Given the description of an element on the screen output the (x, y) to click on. 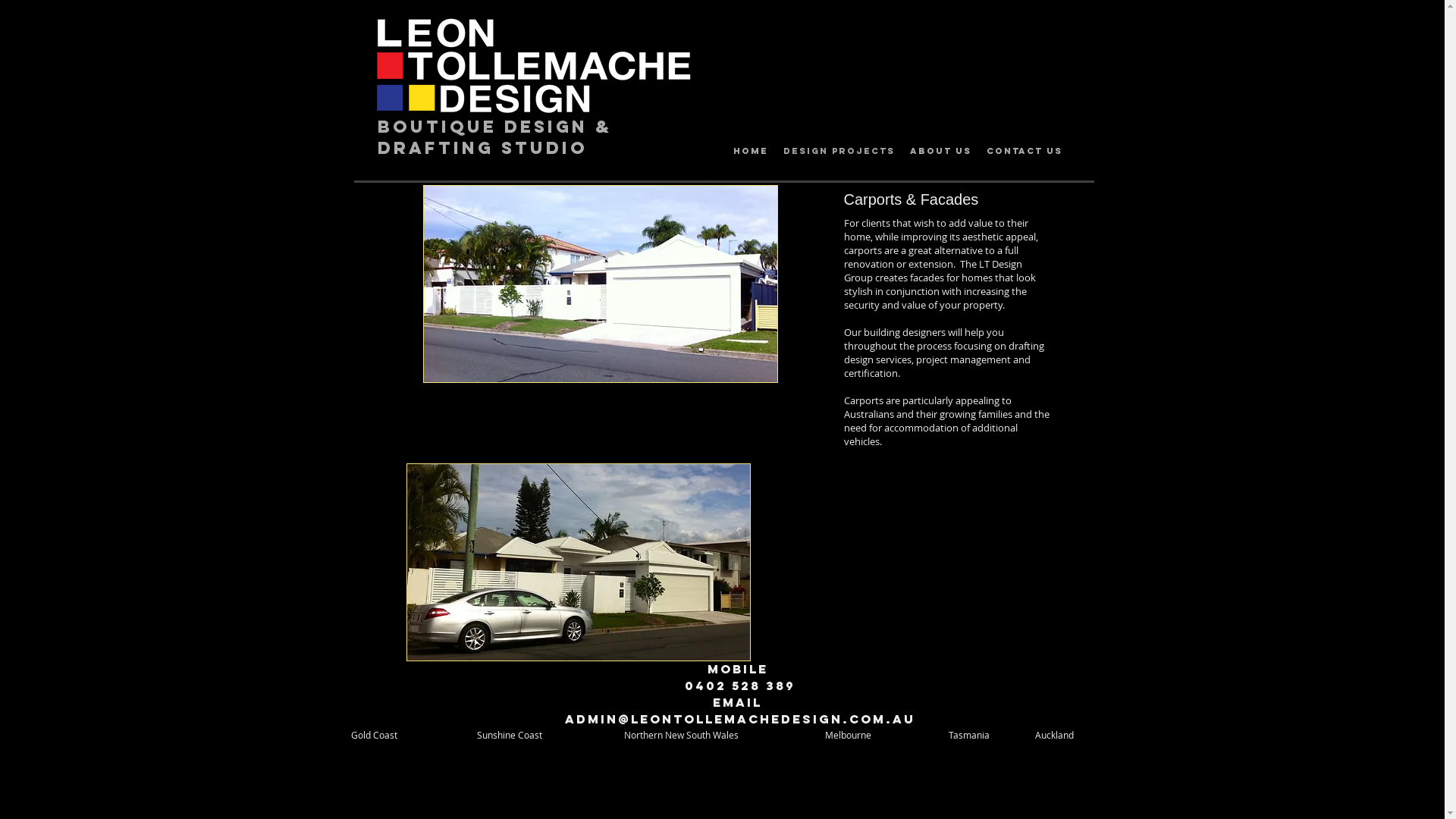
Contact Us Element type: text (1023, 150)
Home Element type: text (749, 150)
admin@leontollemachedesign.com.au Element type: text (739, 718)
About Us Element type: text (940, 150)
Design Projects Element type: text (838, 150)
